Given the description of an element on the screen output the (x, y) to click on. 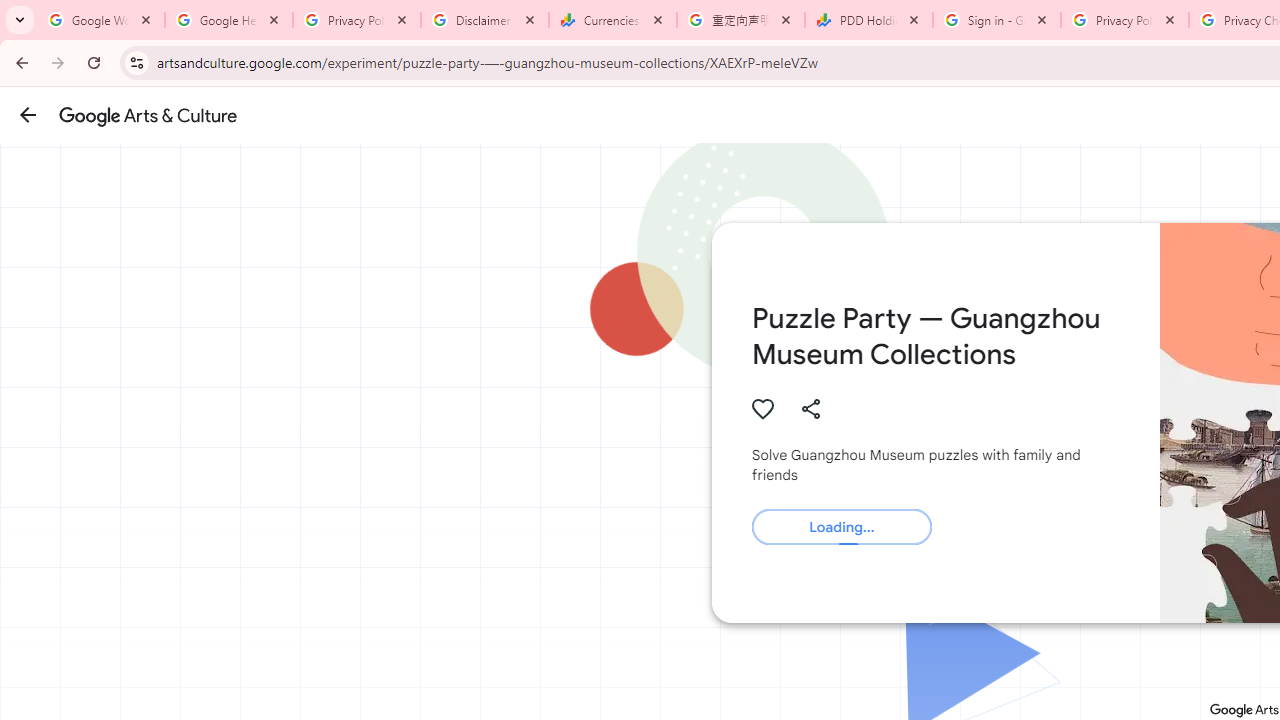
PDD Holdings Inc - ADR (PDD) Price & News - Google Finance (869, 20)
Sign in - Google Accounts (997, 20)
Google Workspace Admin Community (101, 20)
Currencies - Google Finance (613, 20)
